Given the description of an element on the screen output the (x, y) to click on. 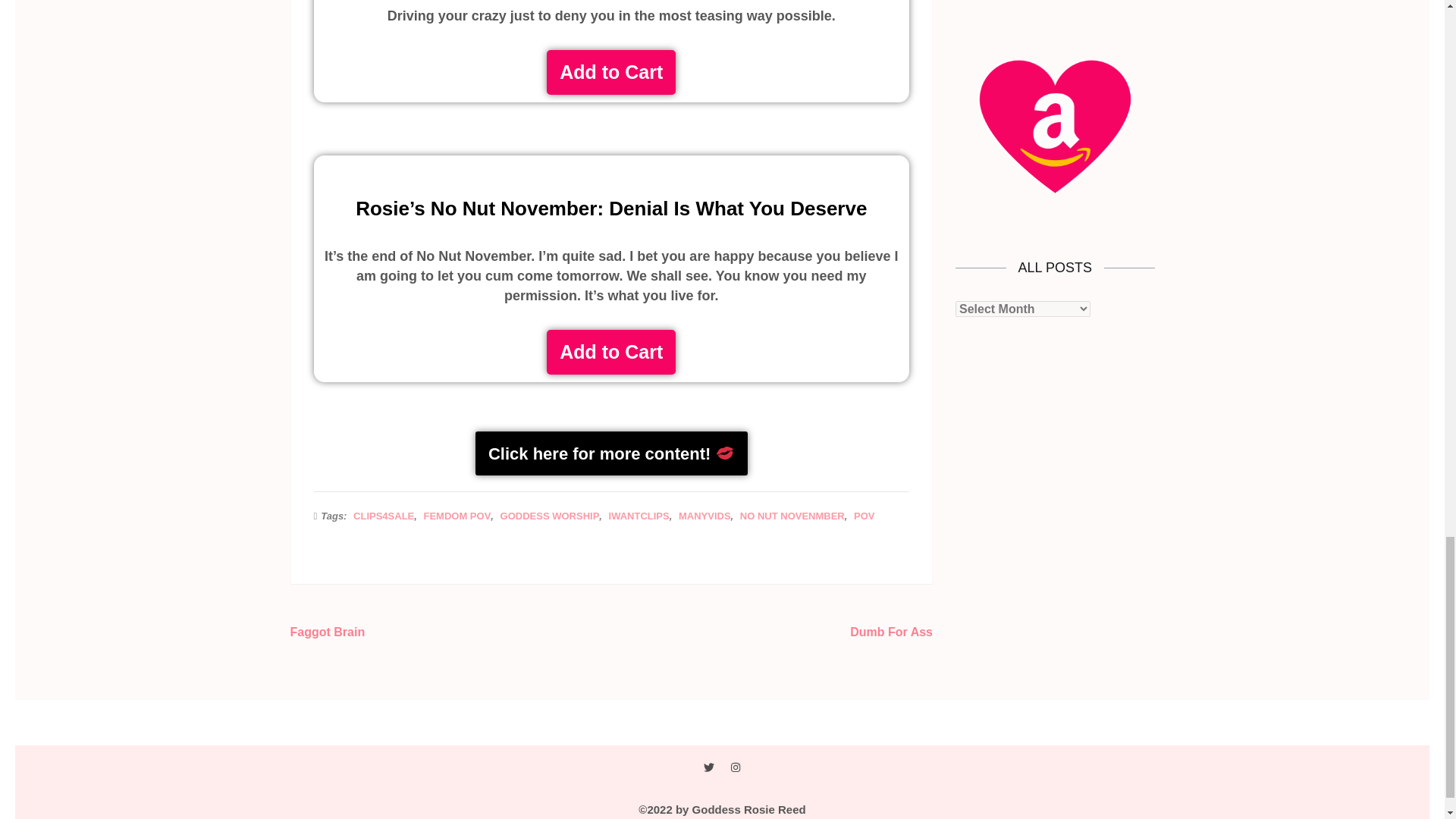
instagram (734, 767)
twitter (708, 767)
